Given the description of an element on the screen output the (x, y) to click on. 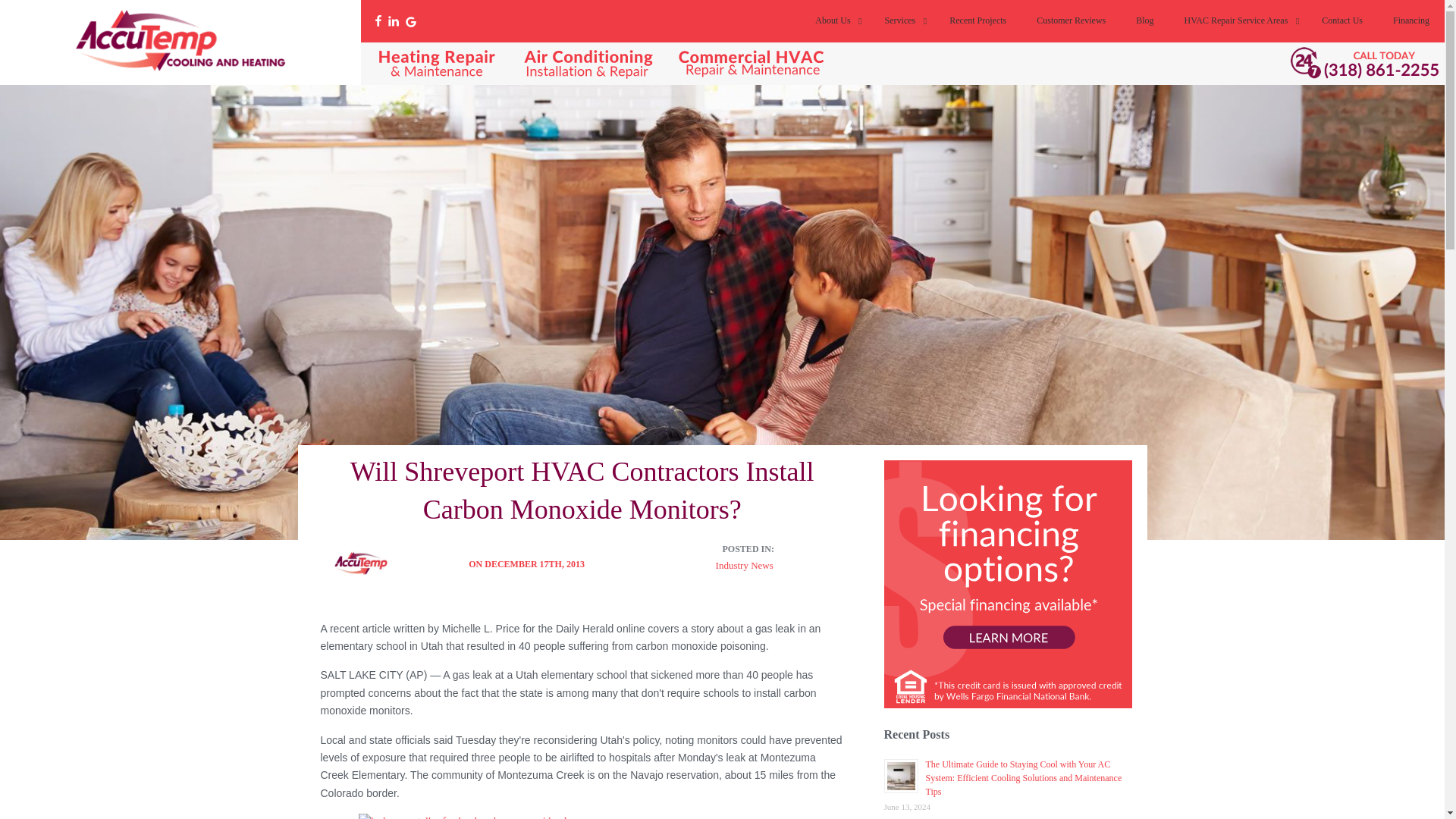
Customer Reviews (1071, 21)
Blog (1145, 21)
About Us (834, 21)
Recent Projects (978, 21)
Industry News (748, 564)
Services (901, 21)
Contact Us (1341, 21)
HVAC Repair Service Areas (1238, 21)
